Given the description of an element on the screen output the (x, y) to click on. 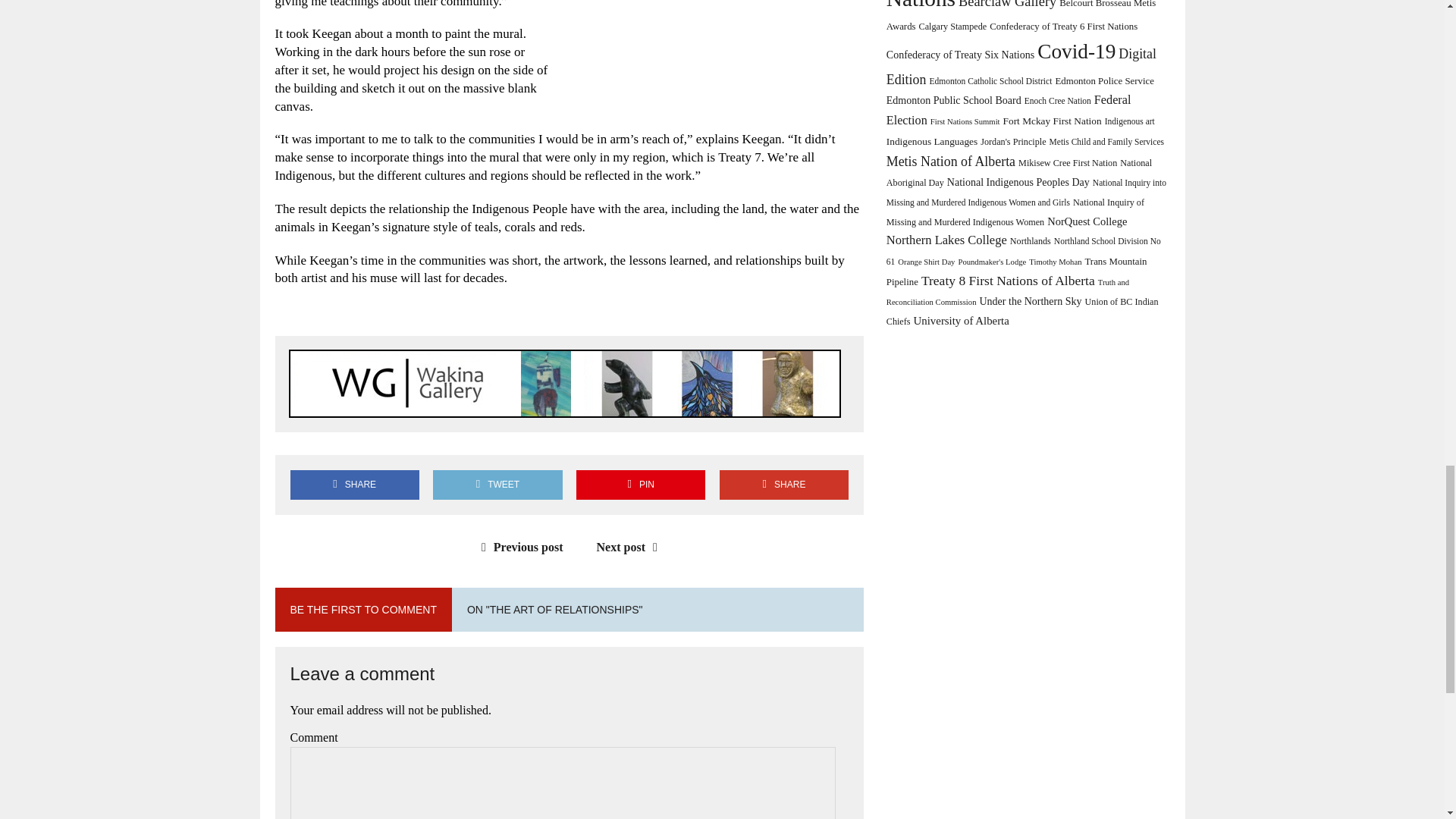
Tweet This Post (497, 484)
Pin This Post (640, 484)
Share on Facebook (354, 484)
